Given the description of an element on the screen output the (x, y) to click on. 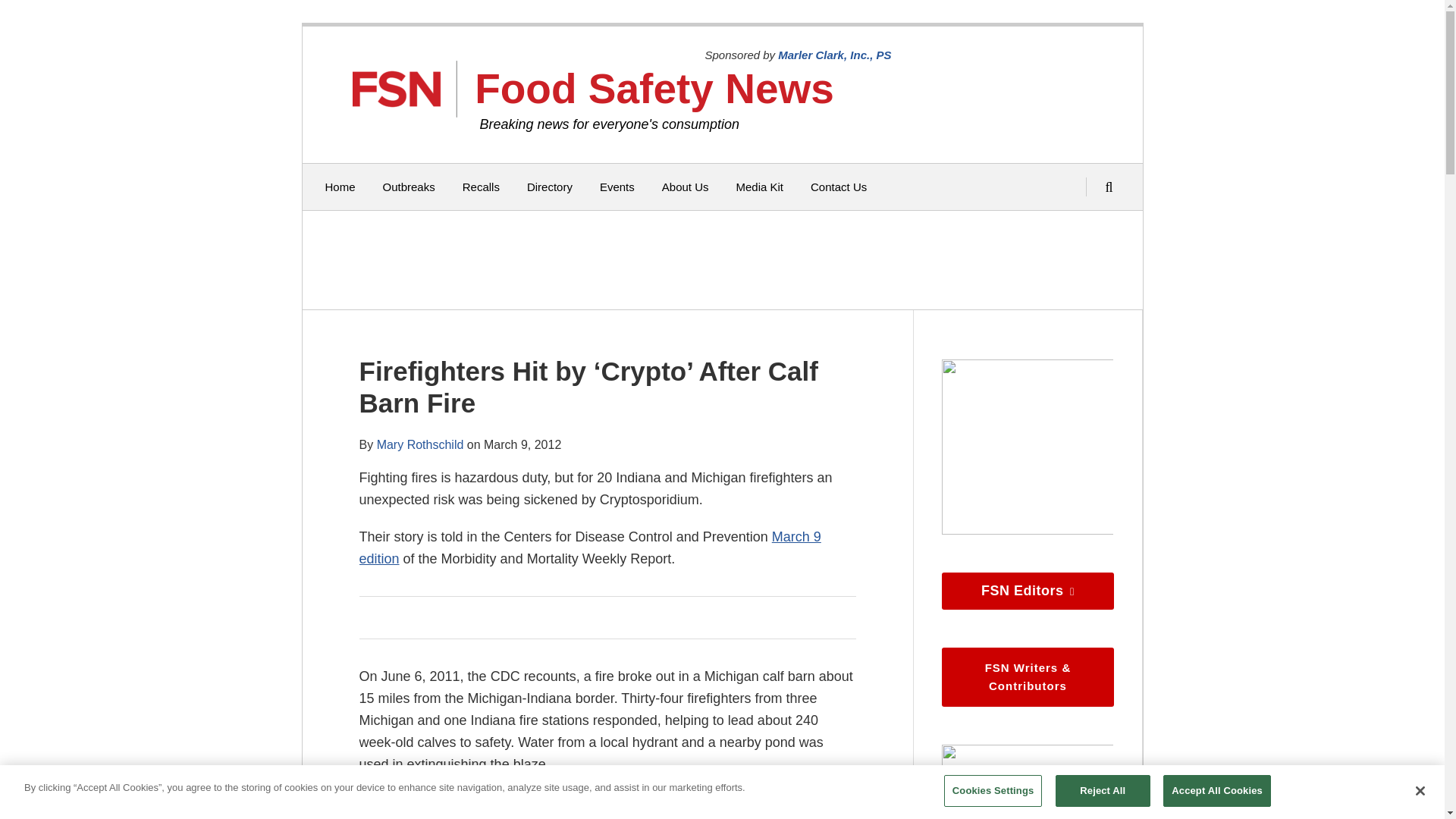
Advertisement (718, 260)
Events (616, 187)
Outbreaks (408, 187)
Marler Clark, Inc., PS (834, 54)
About Us (685, 187)
Contact Us (838, 187)
Food Safety News (654, 88)
March 9 edition (590, 547)
Home (339, 187)
Directory (549, 187)
Mary Rothschild (420, 444)
Media Kit (759, 187)
Recalls (481, 187)
